Given the description of an element on the screen output the (x, y) to click on. 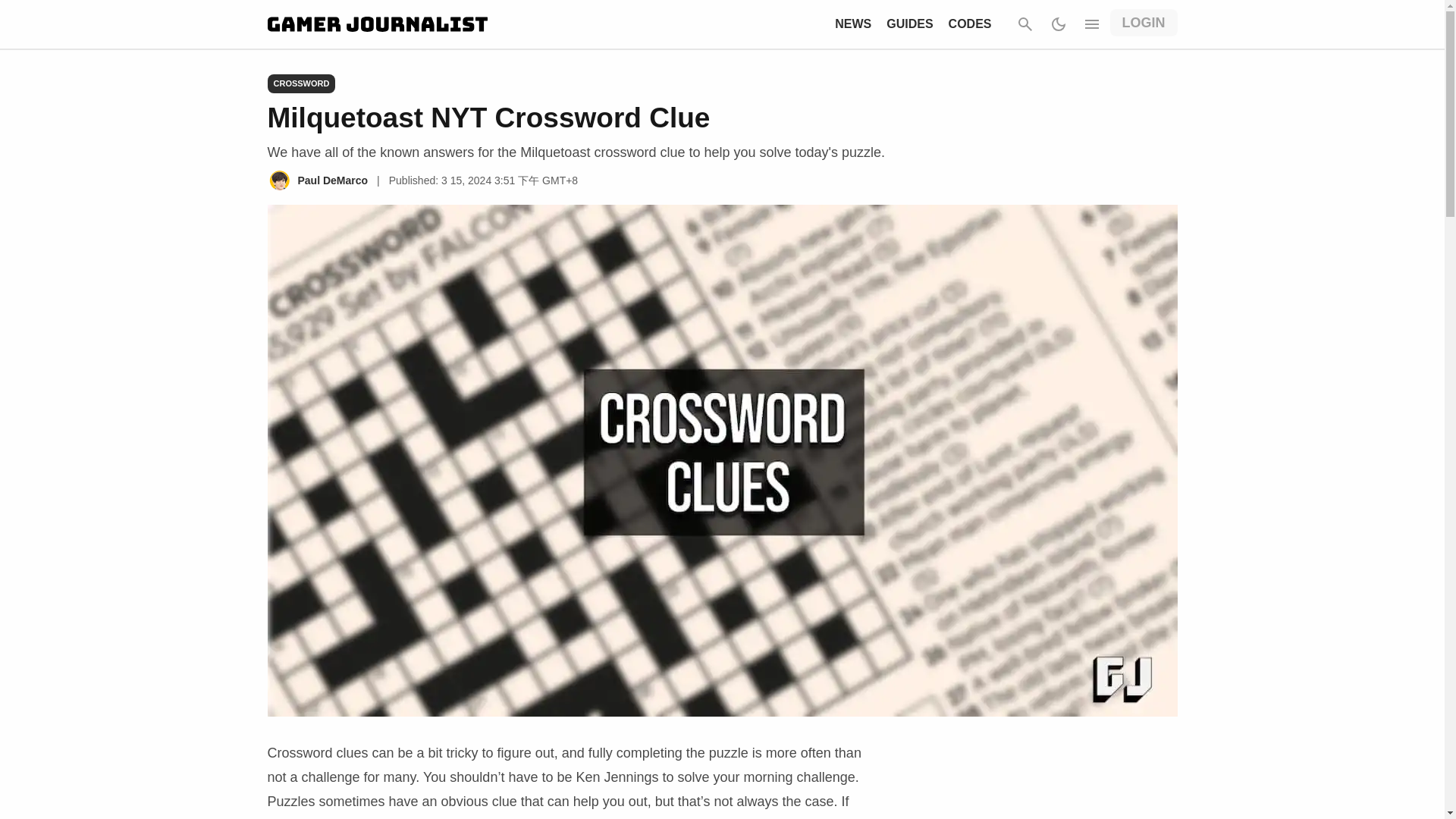
NEWS (852, 23)
LOGIN (1143, 22)
Expand Menu (1091, 24)
Search (1025, 24)
Dark Mode (1058, 24)
CODES (970, 23)
GUIDES (909, 23)
